Given the description of an element on the screen output the (x, y) to click on. 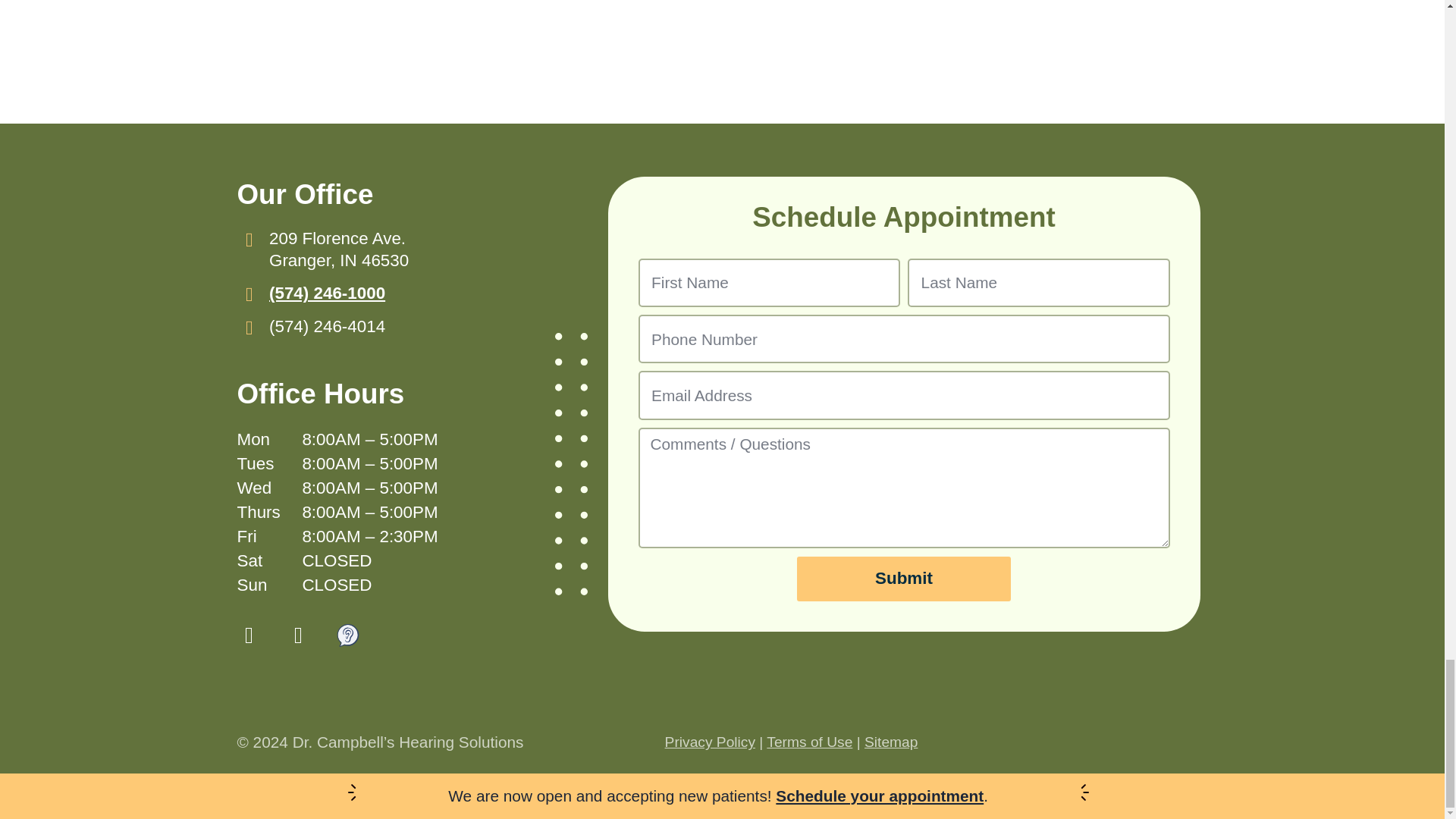
Facebook (247, 635)
